Given the description of an element on the screen output the (x, y) to click on. 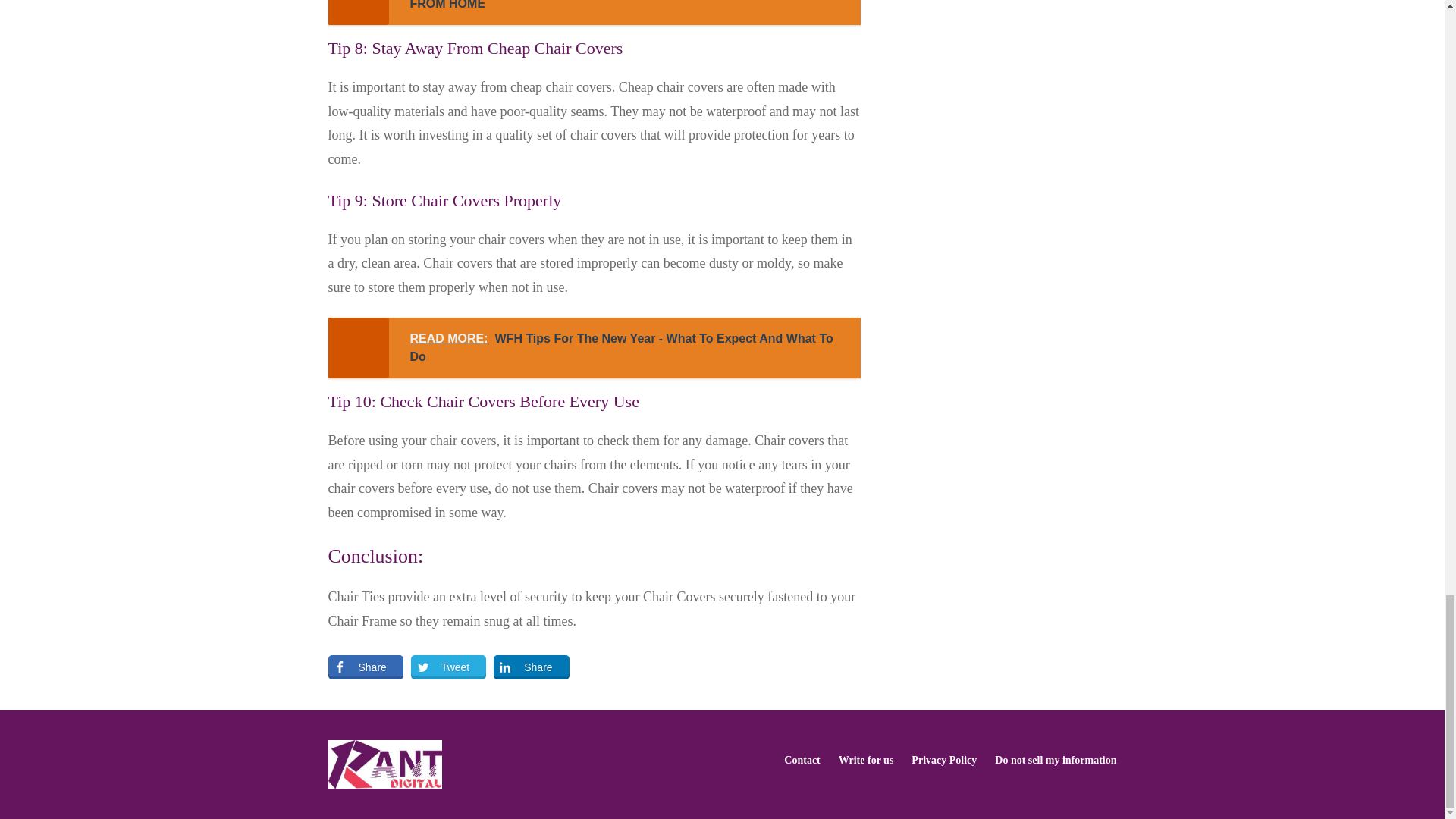
Share (531, 667)
Share (365, 667)
Tweet (448, 667)
